Given the description of an element on the screen output the (x, y) to click on. 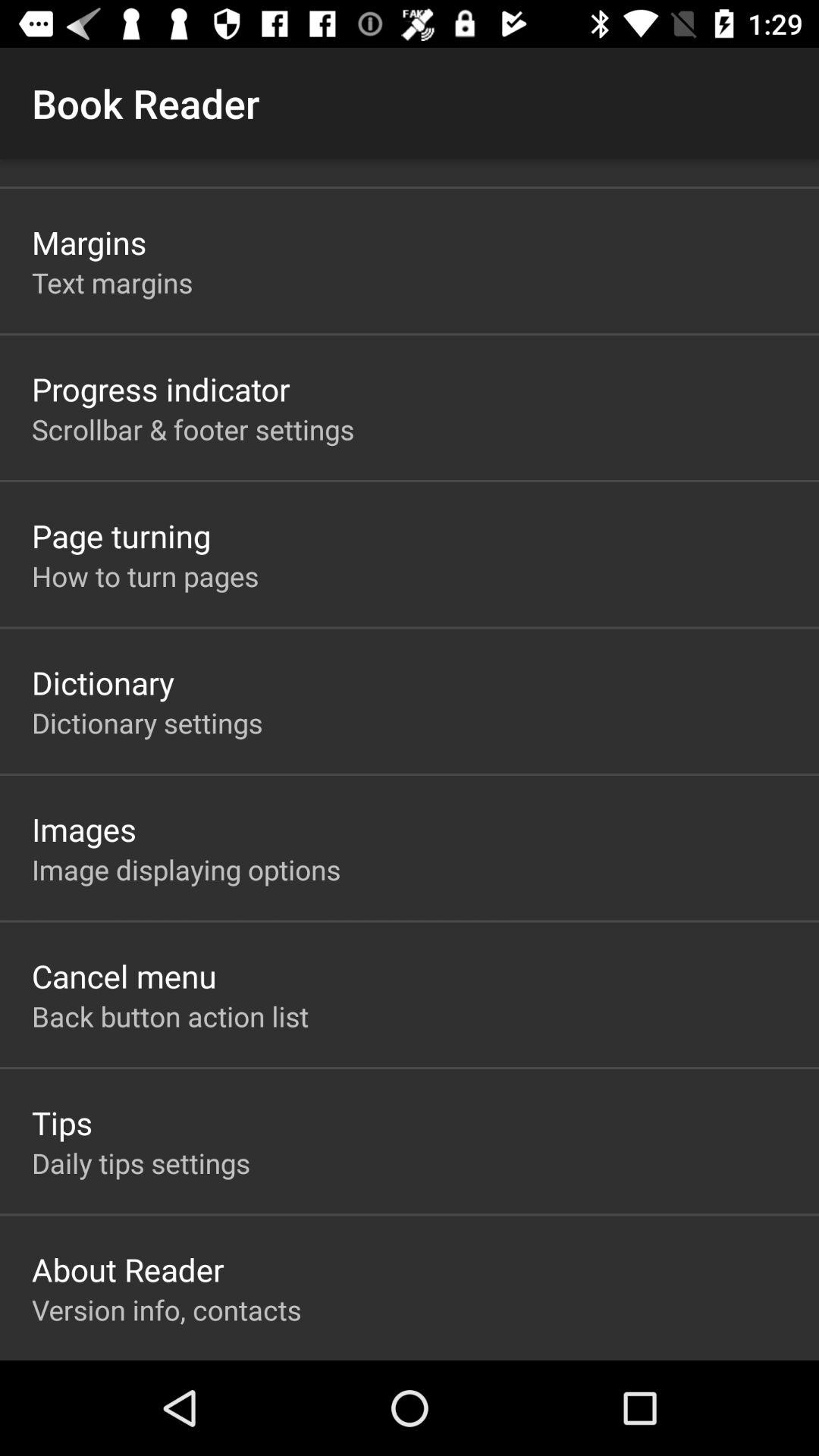
turn off item above scrollbar & footer settings (160, 388)
